Given the description of an element on the screen output the (x, y) to click on. 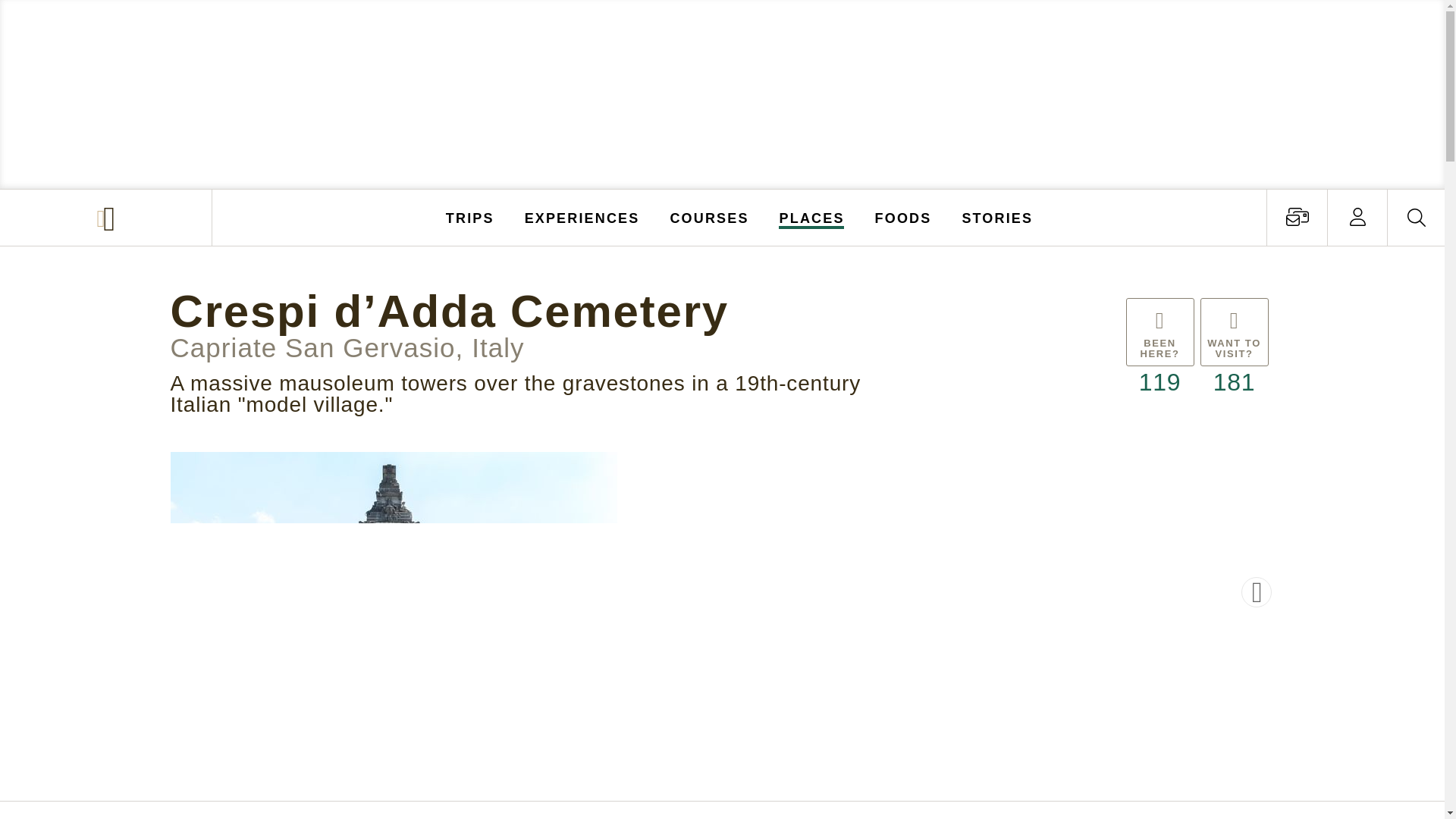
EXPERIENCES (582, 217)
COURSES (707, 217)
TRIPS (469, 217)
PLACES (812, 217)
